Given the description of an element on the screen output the (x, y) to click on. 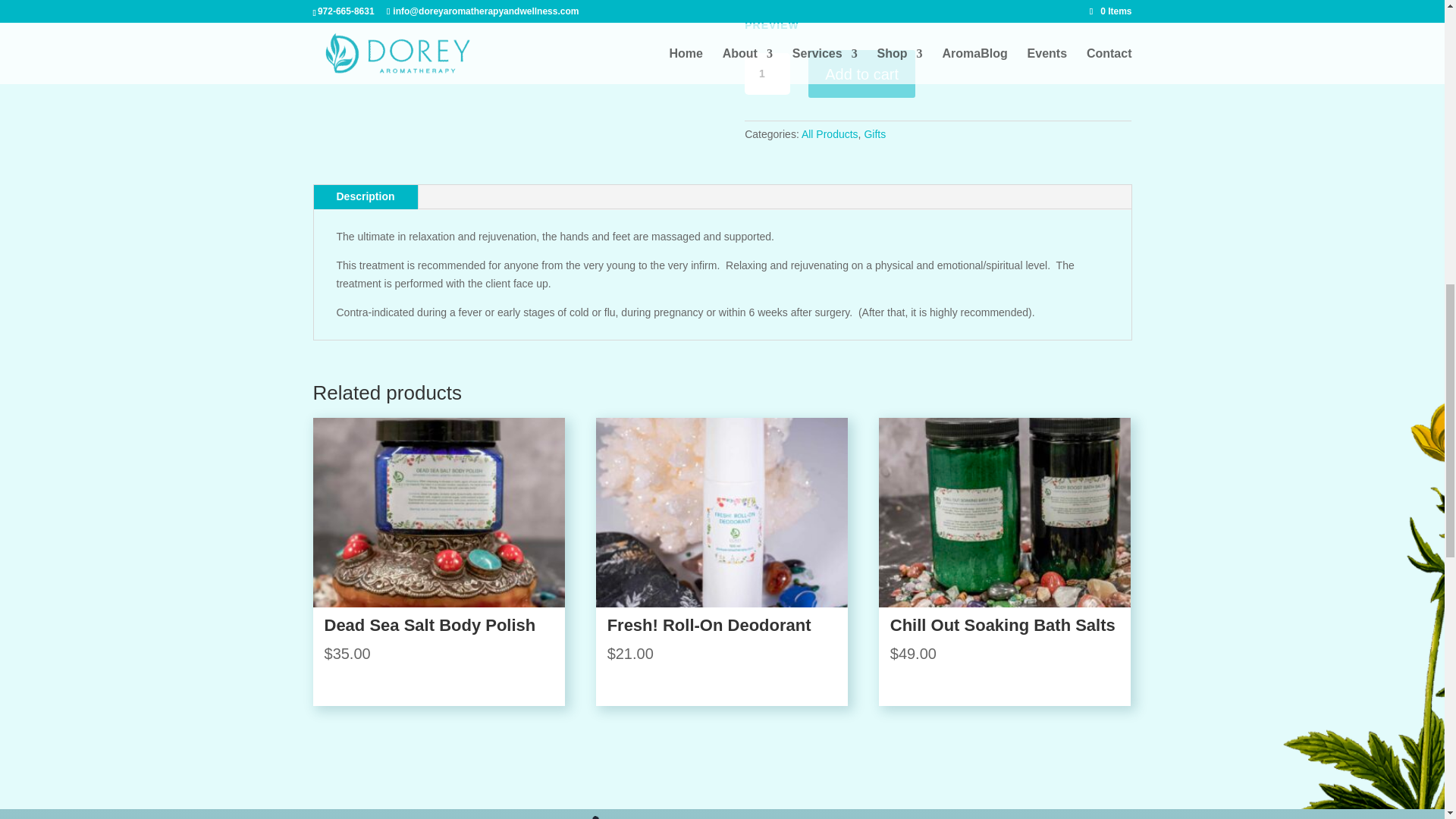
1 (767, 74)
